Given the description of an element on the screen output the (x, y) to click on. 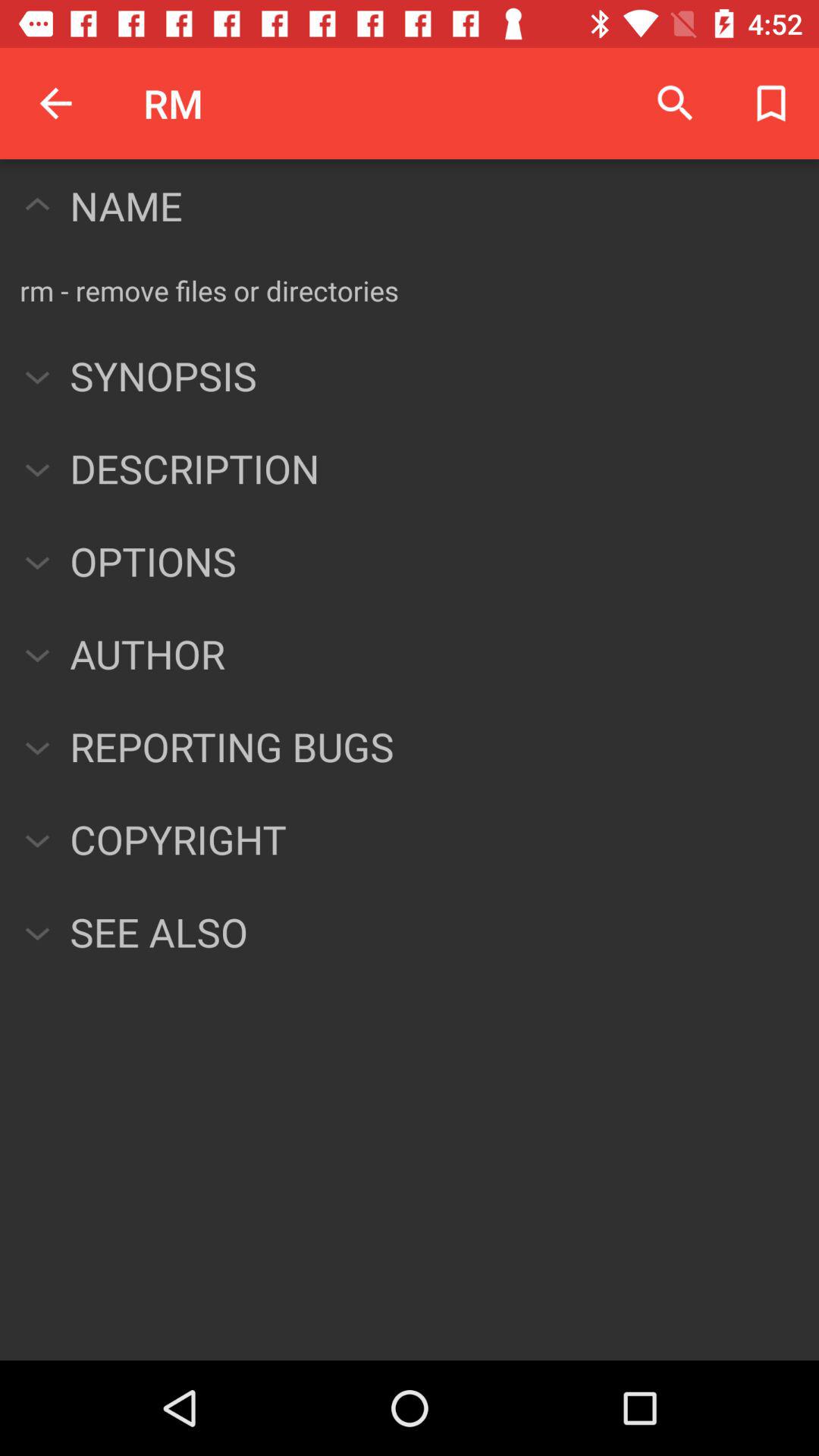
turn on the icon above name icon (55, 103)
